Given the description of an element on the screen output the (x, y) to click on. 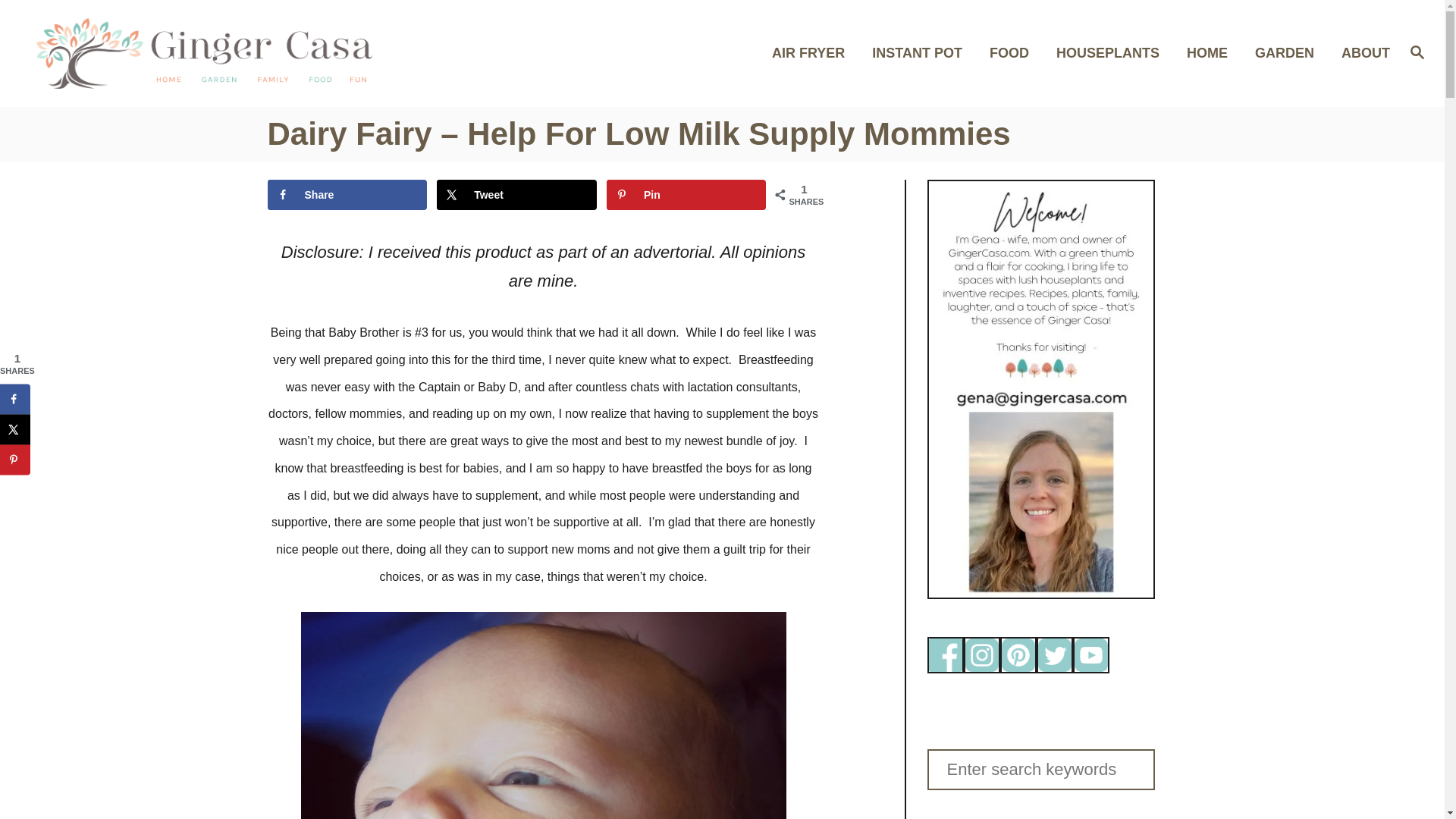
ABOUT (1361, 53)
Share on X (15, 429)
Save to Pinterest (687, 194)
INSTANT POT (921, 53)
Share on X (516, 194)
Tweet (516, 194)
HOUSEPLANTS (1111, 53)
Share on Facebook (346, 194)
Pin (687, 194)
GARDEN (1289, 53)
